Given the description of an element on the screen output the (x, y) to click on. 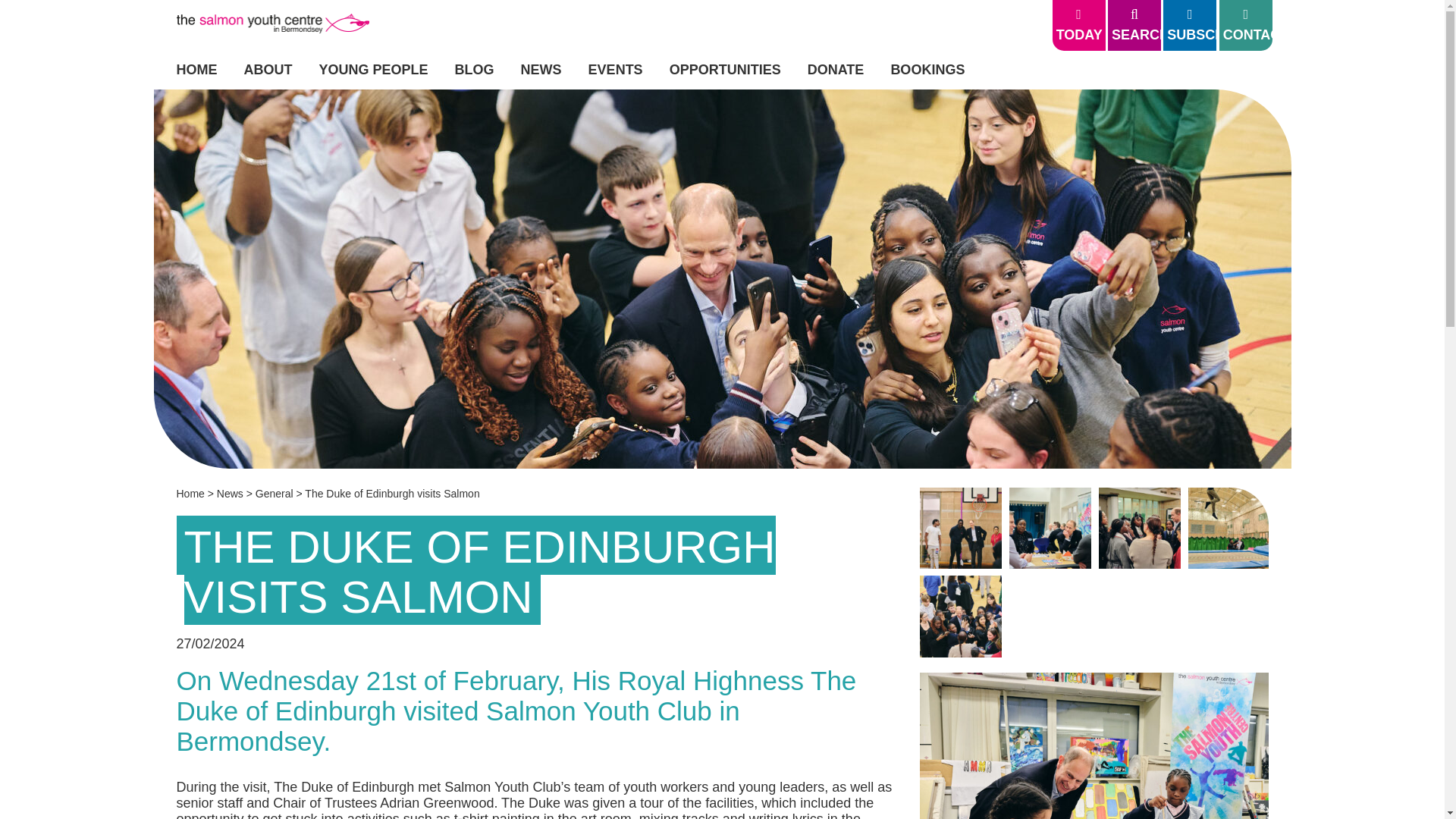
EVENTS (615, 69)
HOME (196, 69)
DONATE (836, 69)
YOUNG PEOPLE (373, 69)
BLOG (474, 69)
BOOKINGS (926, 69)
OPPORTUNITIES (724, 69)
CONTACT (1246, 25)
Go to the General Category archives. (275, 493)
ABOUT (268, 69)
NEWS (541, 69)
